Given the description of an element on the screen output the (x, y) to click on. 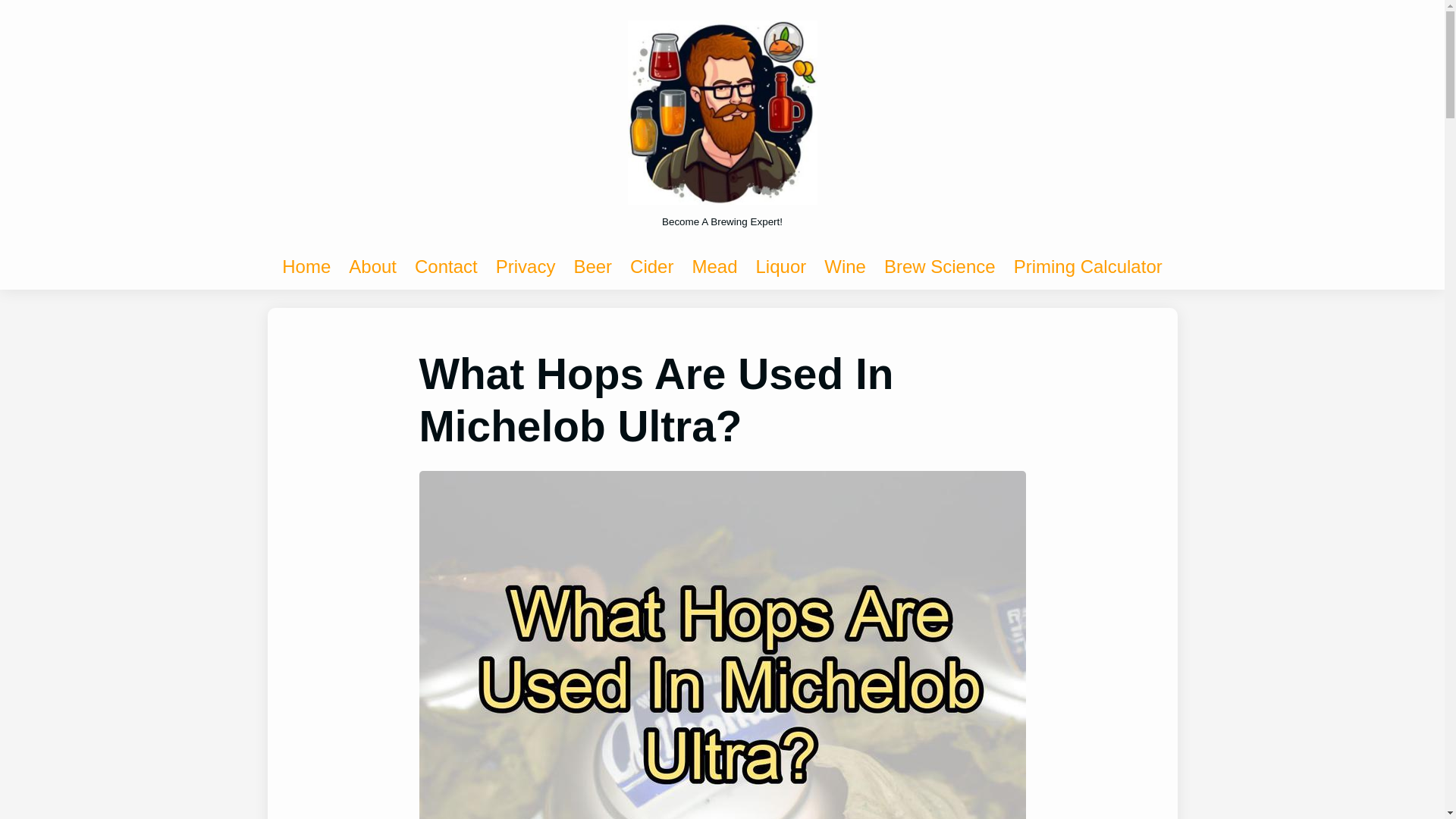
Brew Science (939, 266)
Beer (592, 266)
About (372, 266)
Mead (713, 266)
Privacy (526, 266)
Contact (445, 266)
Liquor (780, 266)
Priming Calculator (1087, 266)
Wine (845, 266)
Cider (651, 266)
Home (306, 266)
